Given the description of an element on the screen output the (x, y) to click on. 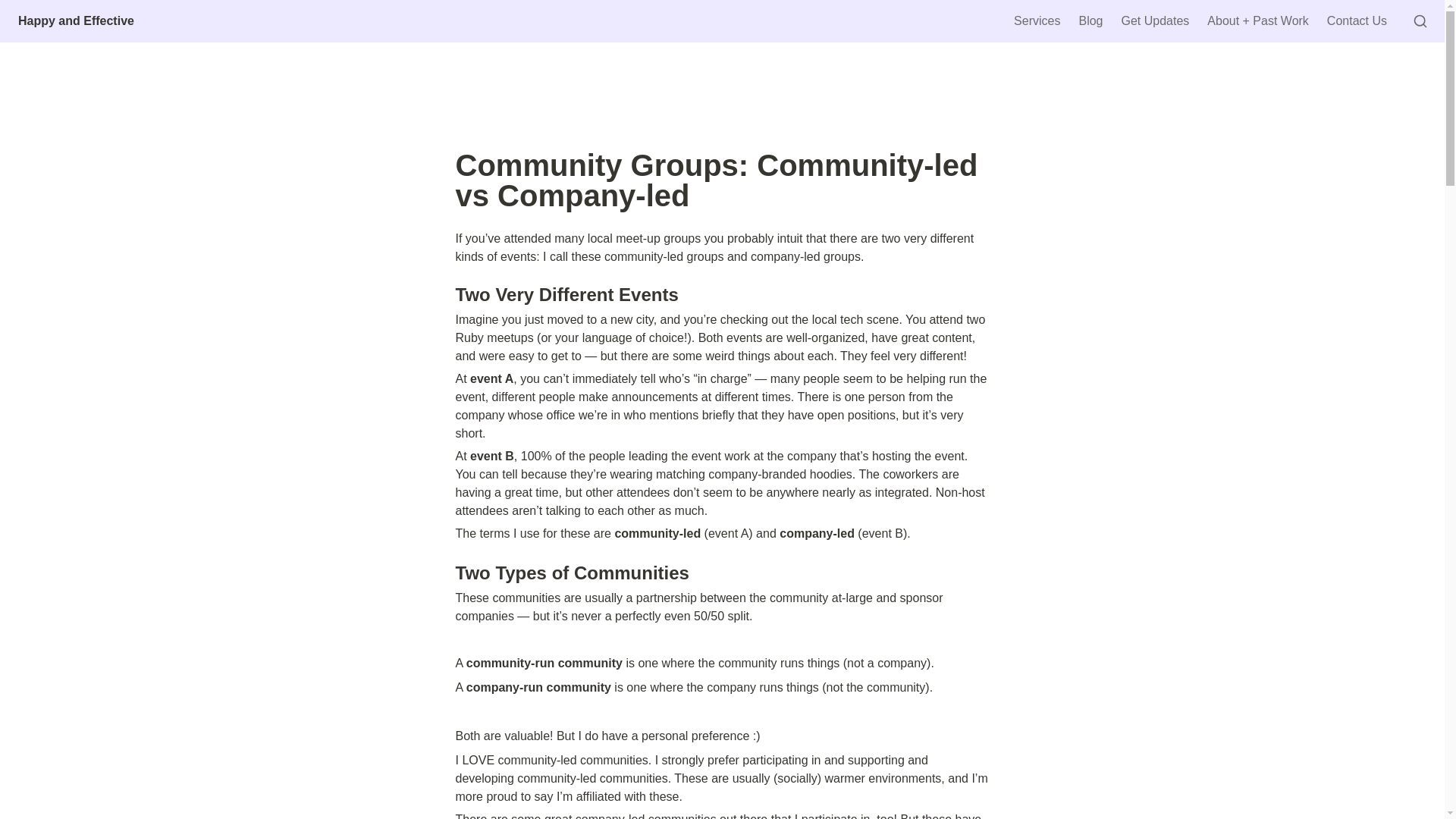
Blog (1090, 21)
Services (1036, 21)
Contact Us (1356, 21)
Happy and Effective (76, 21)
Get Updates (1155, 21)
